Given the description of an element on the screen output the (x, y) to click on. 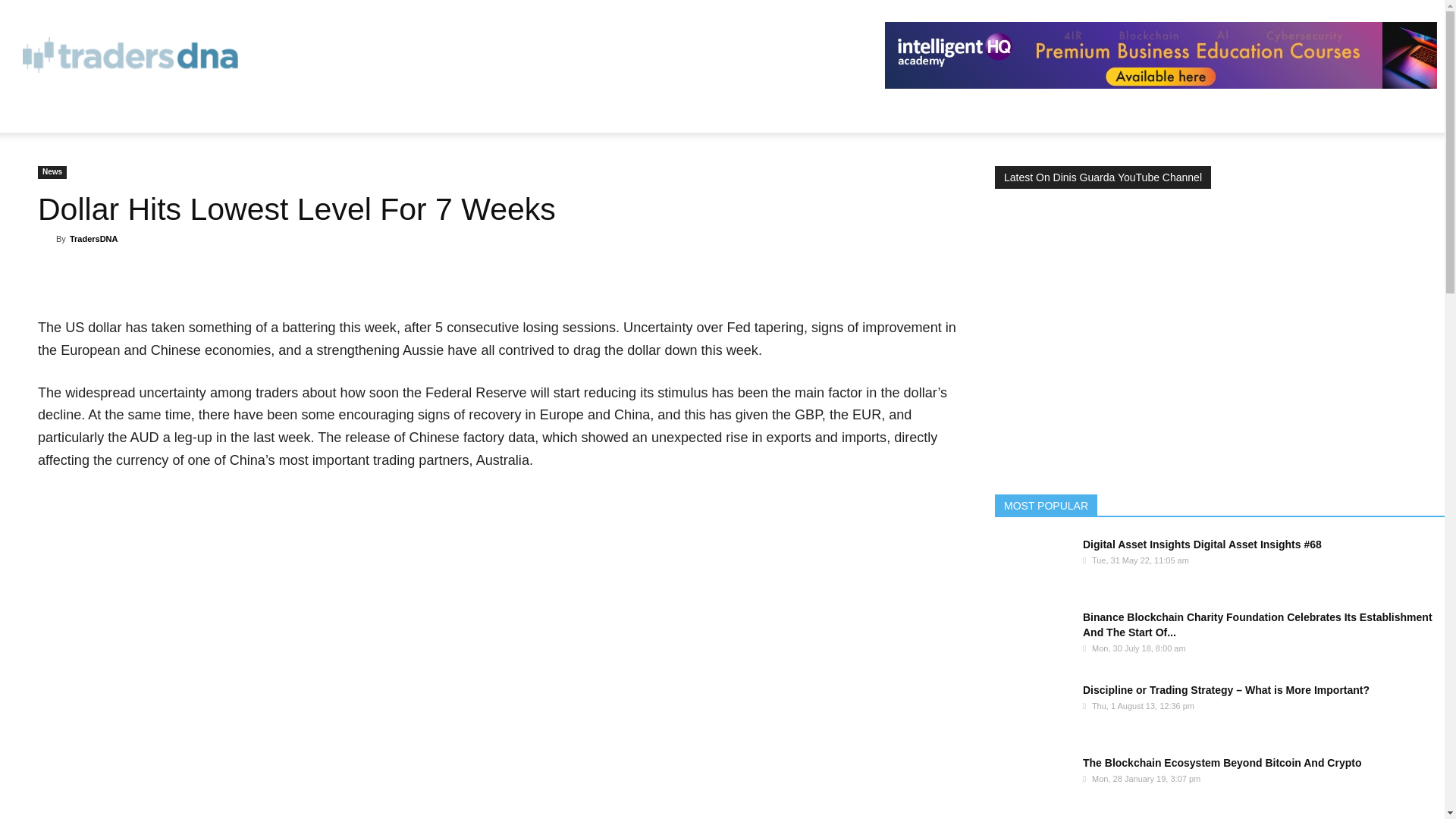
EDUCATION (177, 114)
RESOURCES (75, 114)
